Given the description of an element on the screen output the (x, y) to click on. 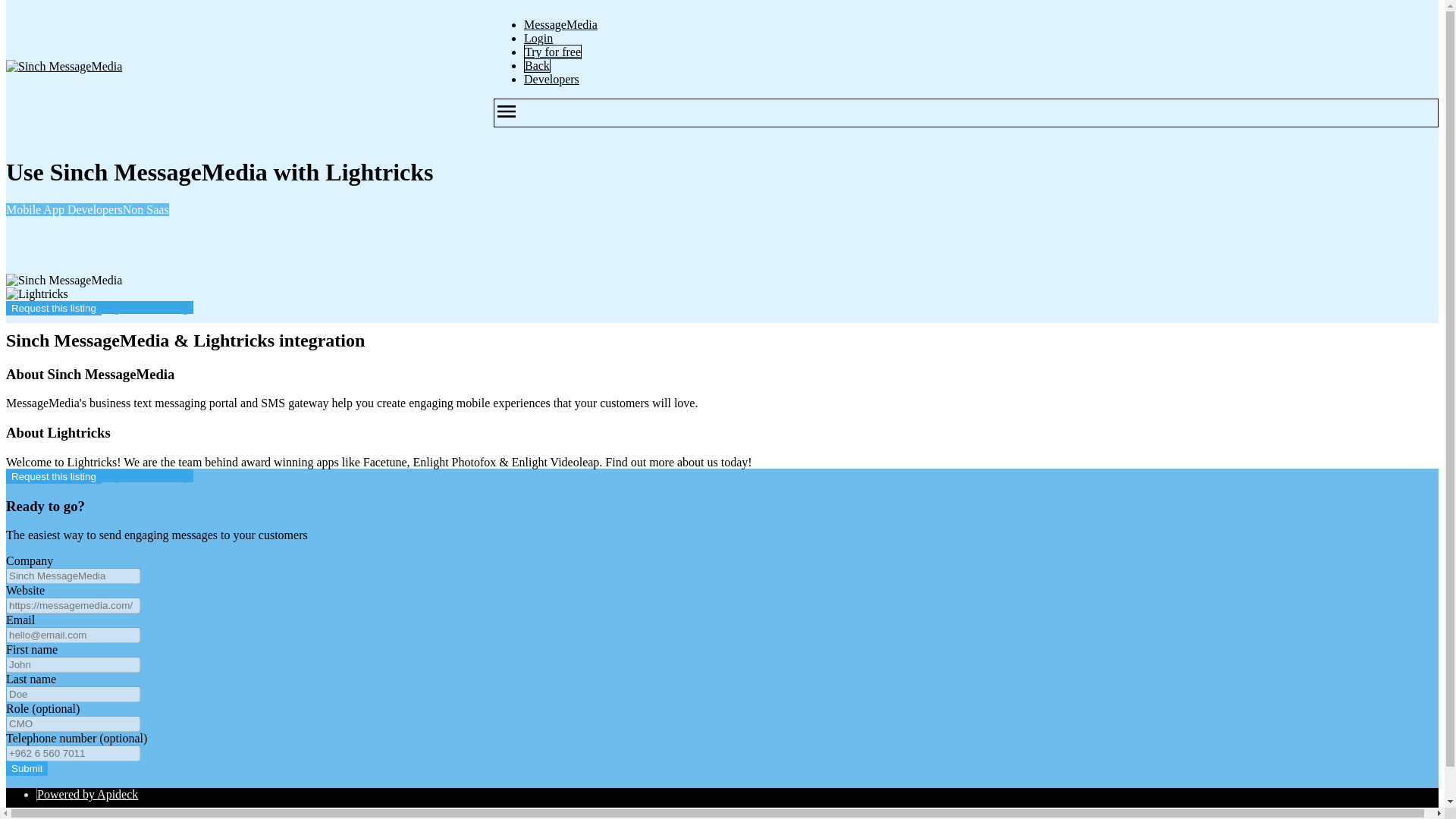
Login (538, 38)
Catalog (56, 816)
Developers (551, 78)
Request this listing (53, 476)
Explore all listings (147, 307)
Sinch MessageMedia (63, 280)
Powered by Apideck (87, 793)
Back (537, 65)
Request this listing (53, 308)
Submit (26, 768)
Explore all listings (147, 475)
MessageMedia (560, 24)
Sinch MessageMedia (63, 66)
Lightricks (36, 294)
Try for free (552, 51)
